Given the description of an element on the screen output the (x, y) to click on. 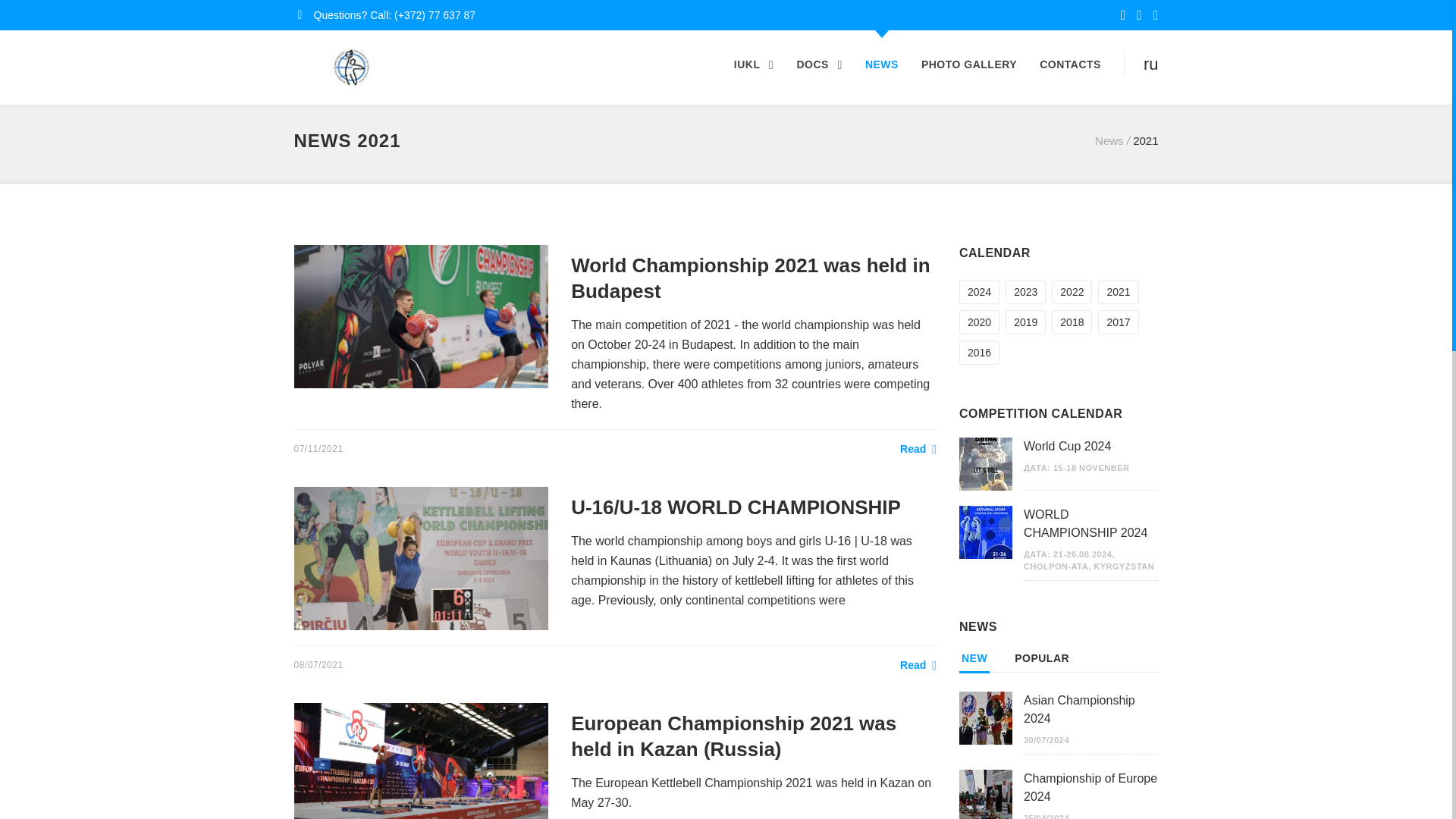
World Cup 2024 (985, 463)
WORLD CHAMPIONSHIP 2024 (1085, 522)
IUKL (753, 64)
World Cup 2024 (1066, 445)
WORLD CHAMPIONSHIP 2024 (985, 532)
